Given the description of an element on the screen output the (x, y) to click on. 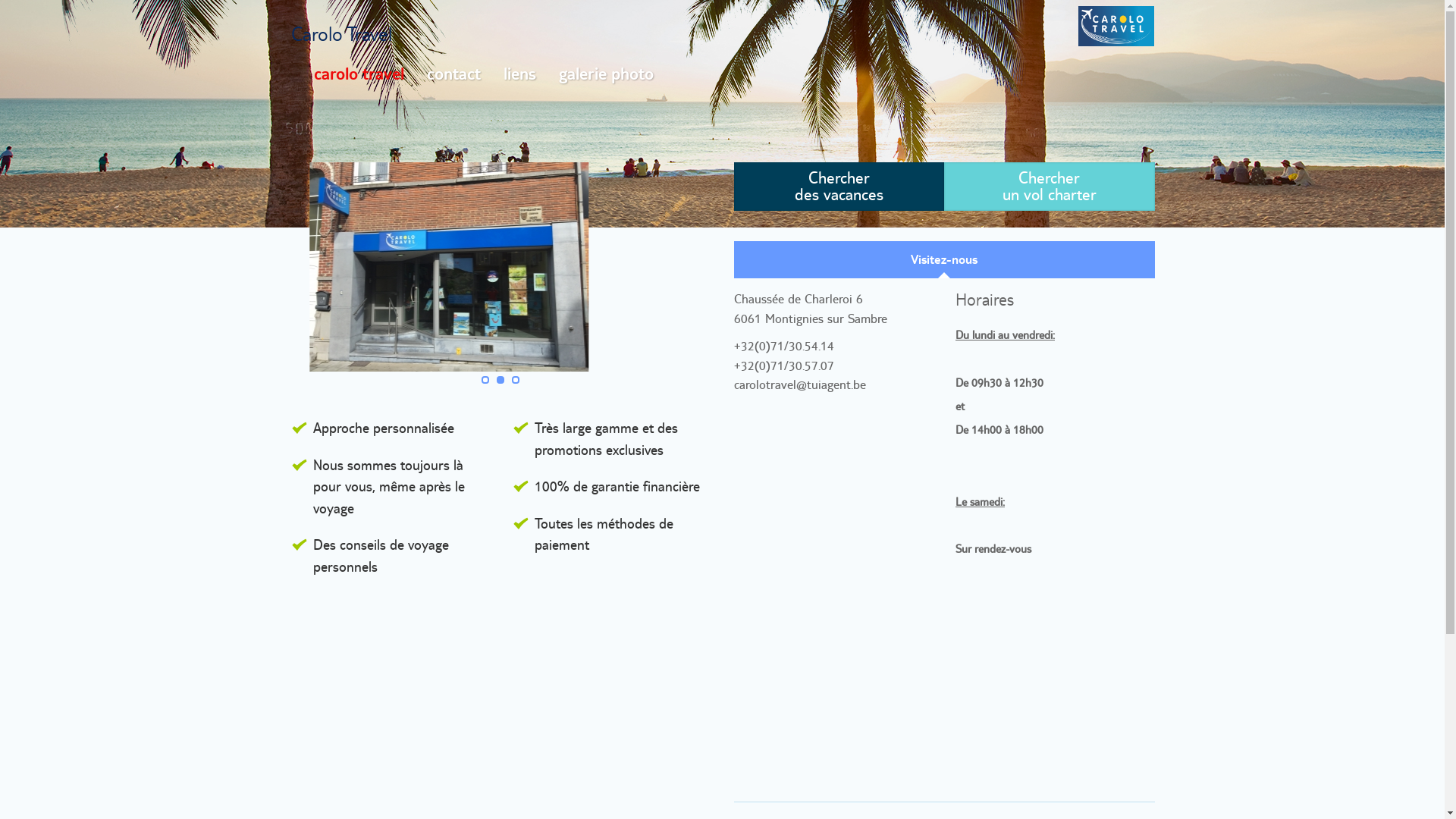
Carolo Travel Element type: text (341, 33)
carolotravel@tuiagent.be Element type: text (800, 384)
1 Element type: text (485, 379)
Chercher
un vol charter Element type: text (1049, 186)
2 Element type: text (500, 379)
3 Element type: text (515, 379)
galerie photo Element type: text (606, 73)
+32(0)71/30.54.14 Element type: text (784, 345)
carolo travel Element type: text (357, 73)
Chercher
des vacances Element type: text (839, 186)
liens Element type: text (518, 73)
contact Element type: text (453, 73)
Visitez-nous Element type: text (944, 259)
